Given the description of an element on the screen output the (x, y) to click on. 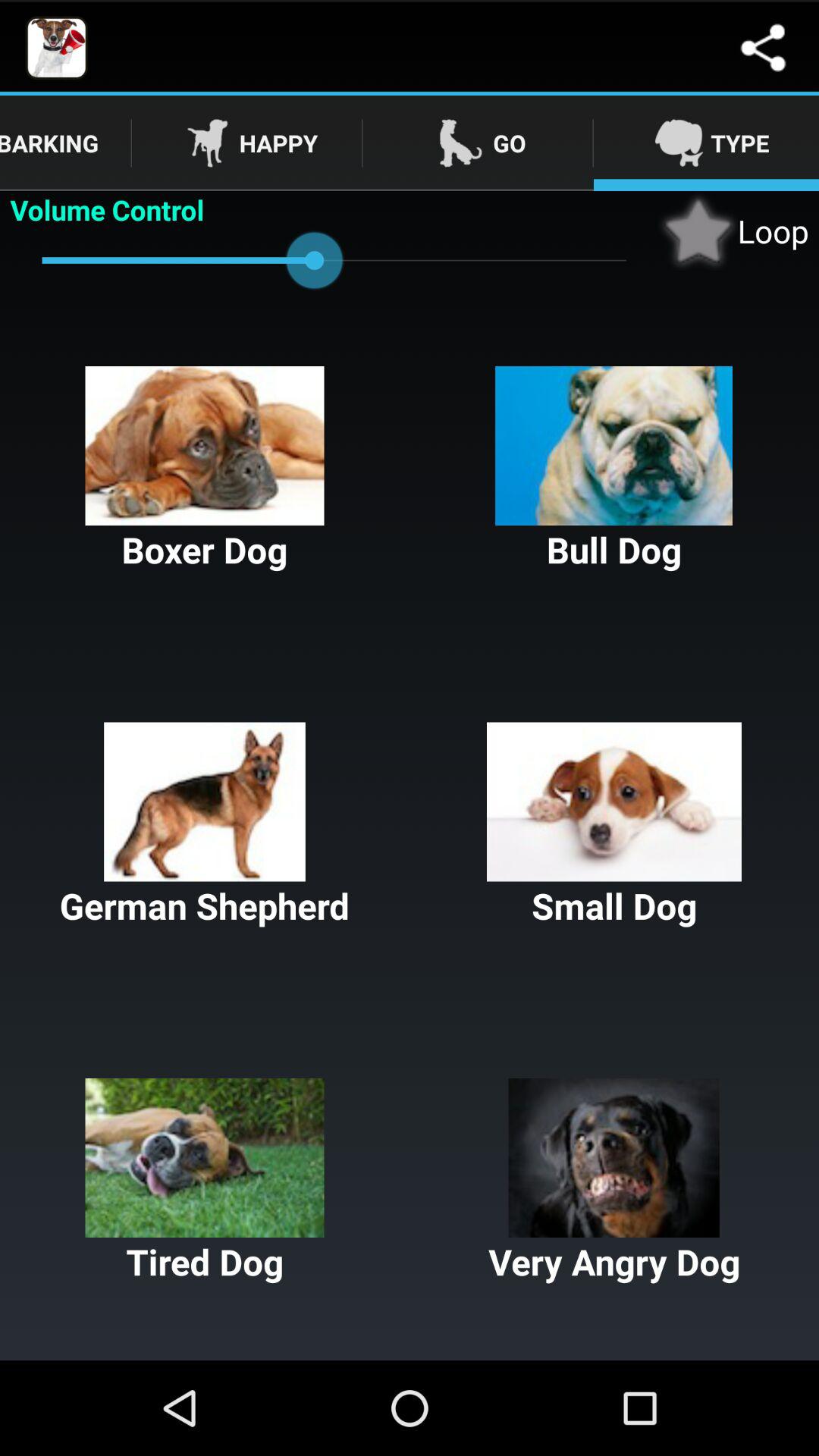
select the icon to the left of very angry dog button (204, 1181)
